Given the description of an element on the screen output the (x, y) to click on. 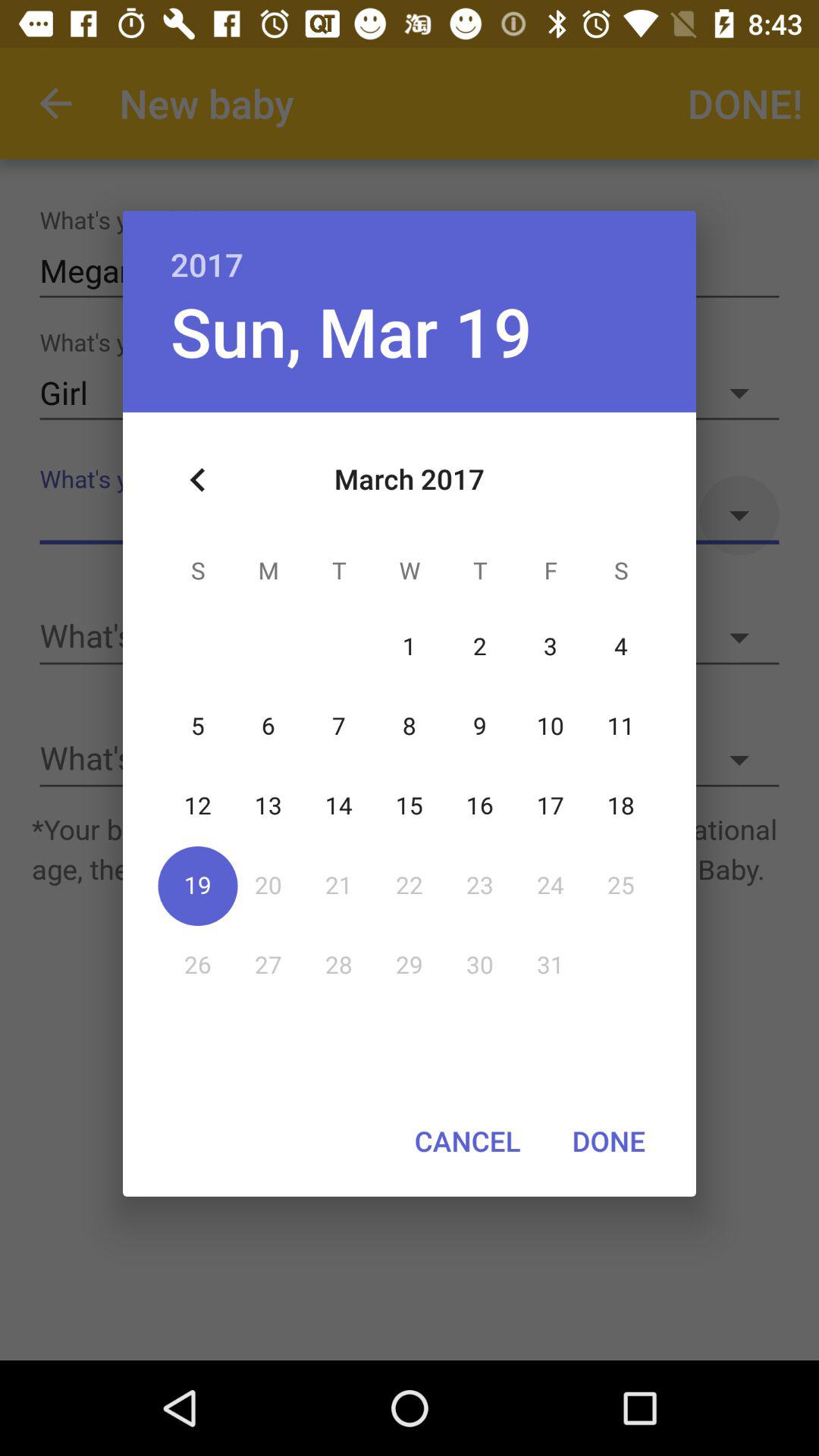
choose icon to the left of done (467, 1140)
